Given the description of an element on the screen output the (x, y) to click on. 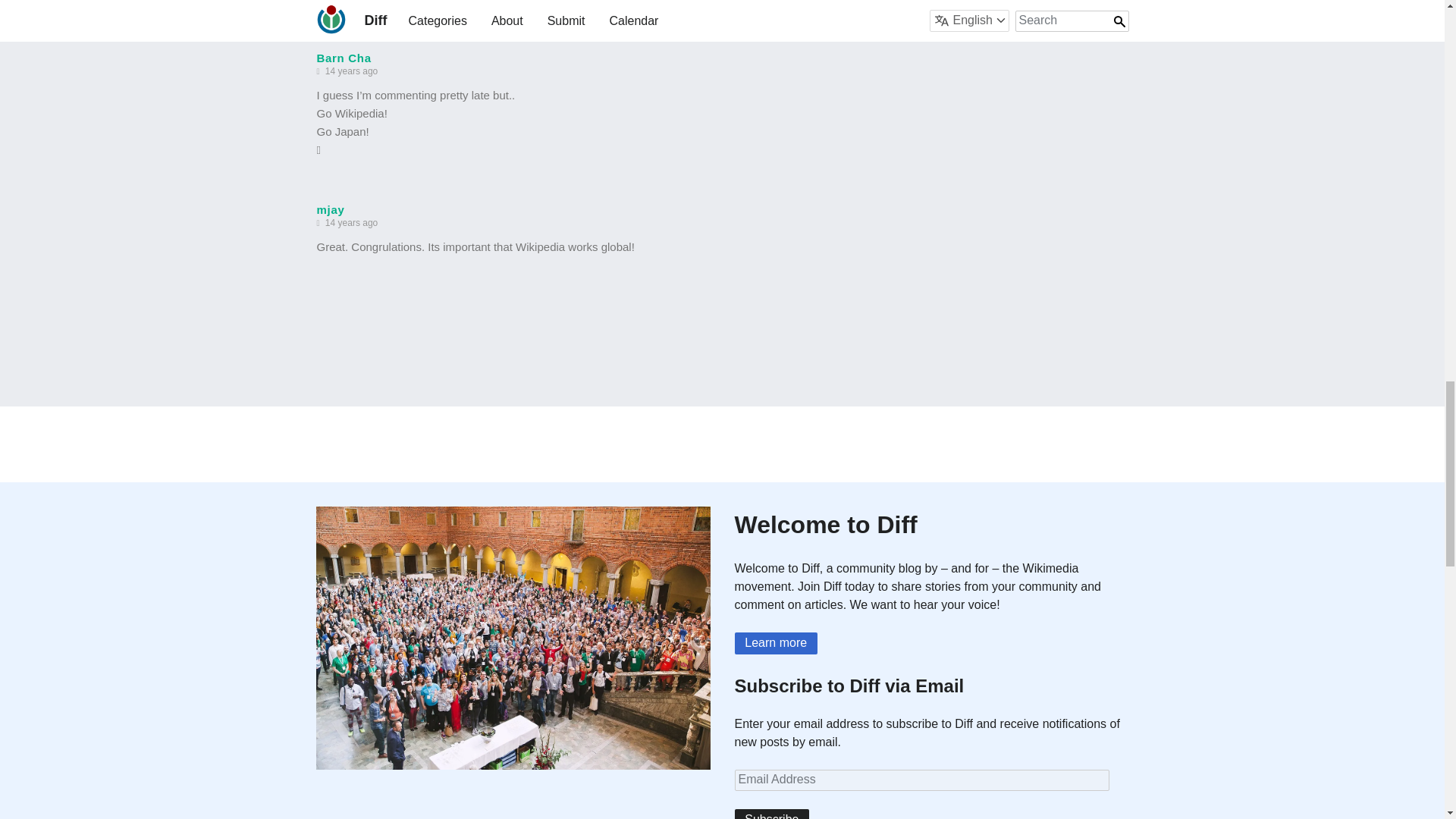
Learn more (774, 643)
Subscribe (771, 814)
